Given the description of an element on the screen output the (x, y) to click on. 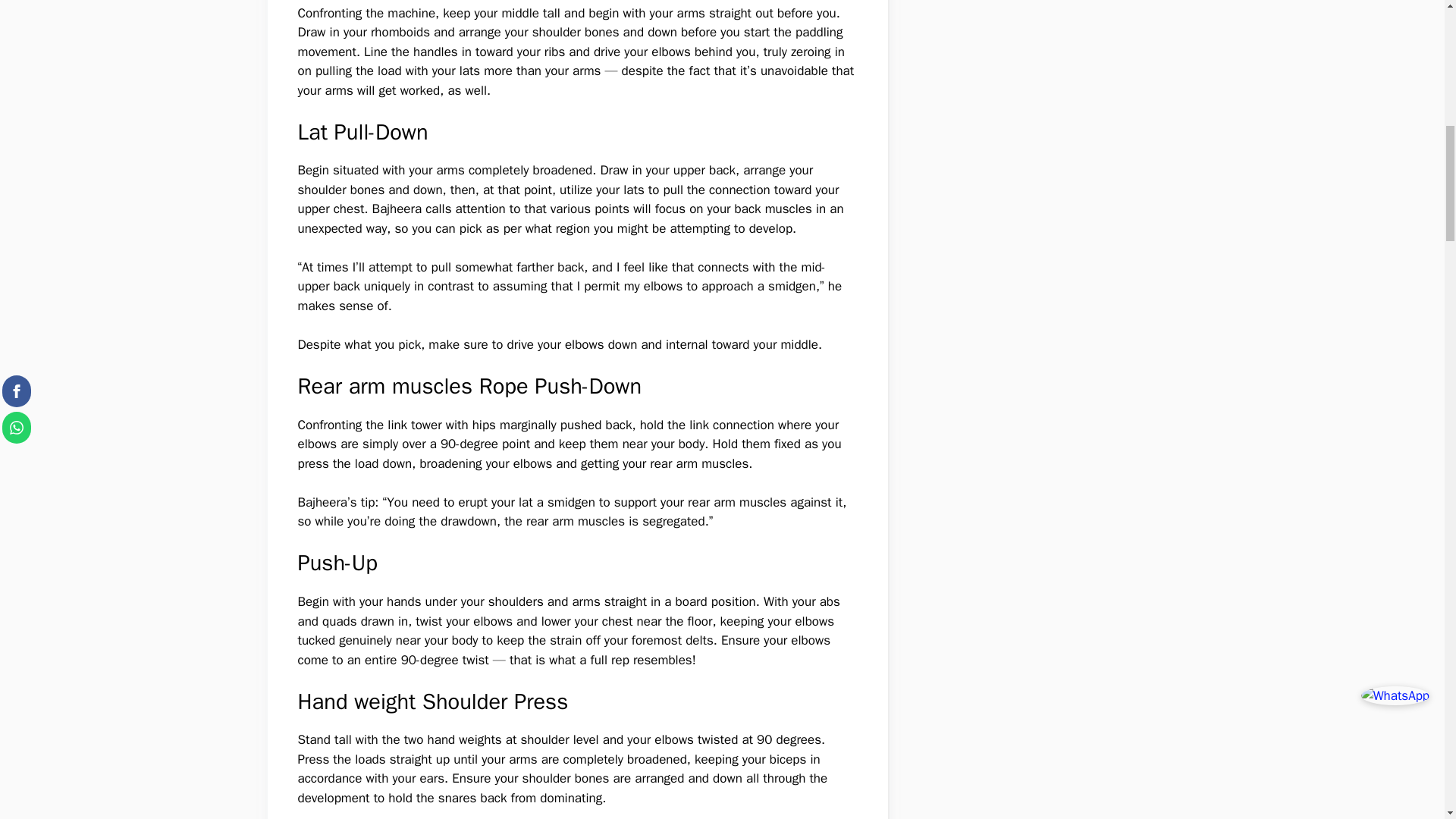
Scroll back to top (1406, 720)
